Given the description of an element on the screen output the (x, y) to click on. 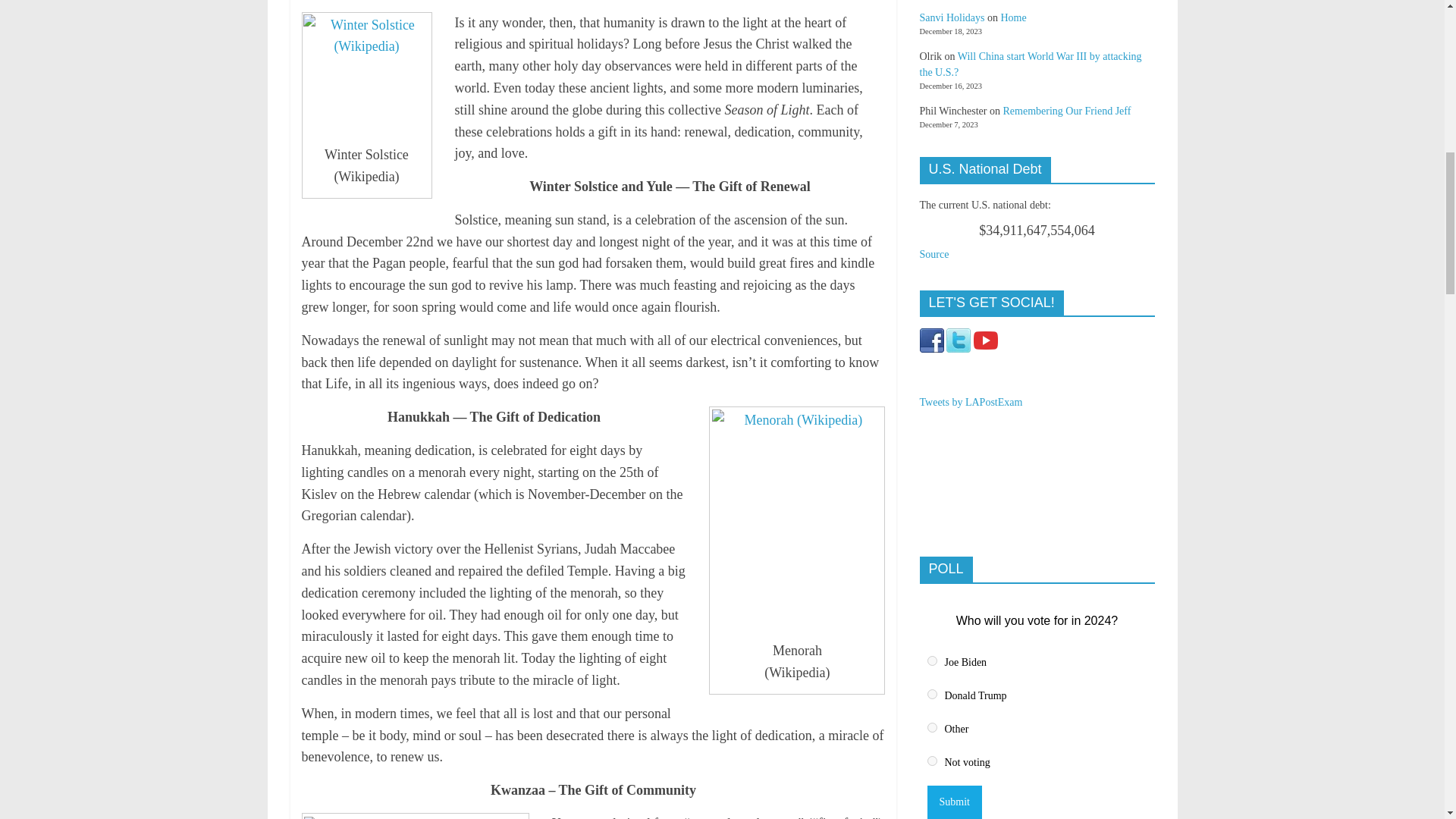
4 (931, 760)
1 (931, 660)
2 (931, 694)
3 (931, 727)
